Given the description of an element on the screen output the (x, y) to click on. 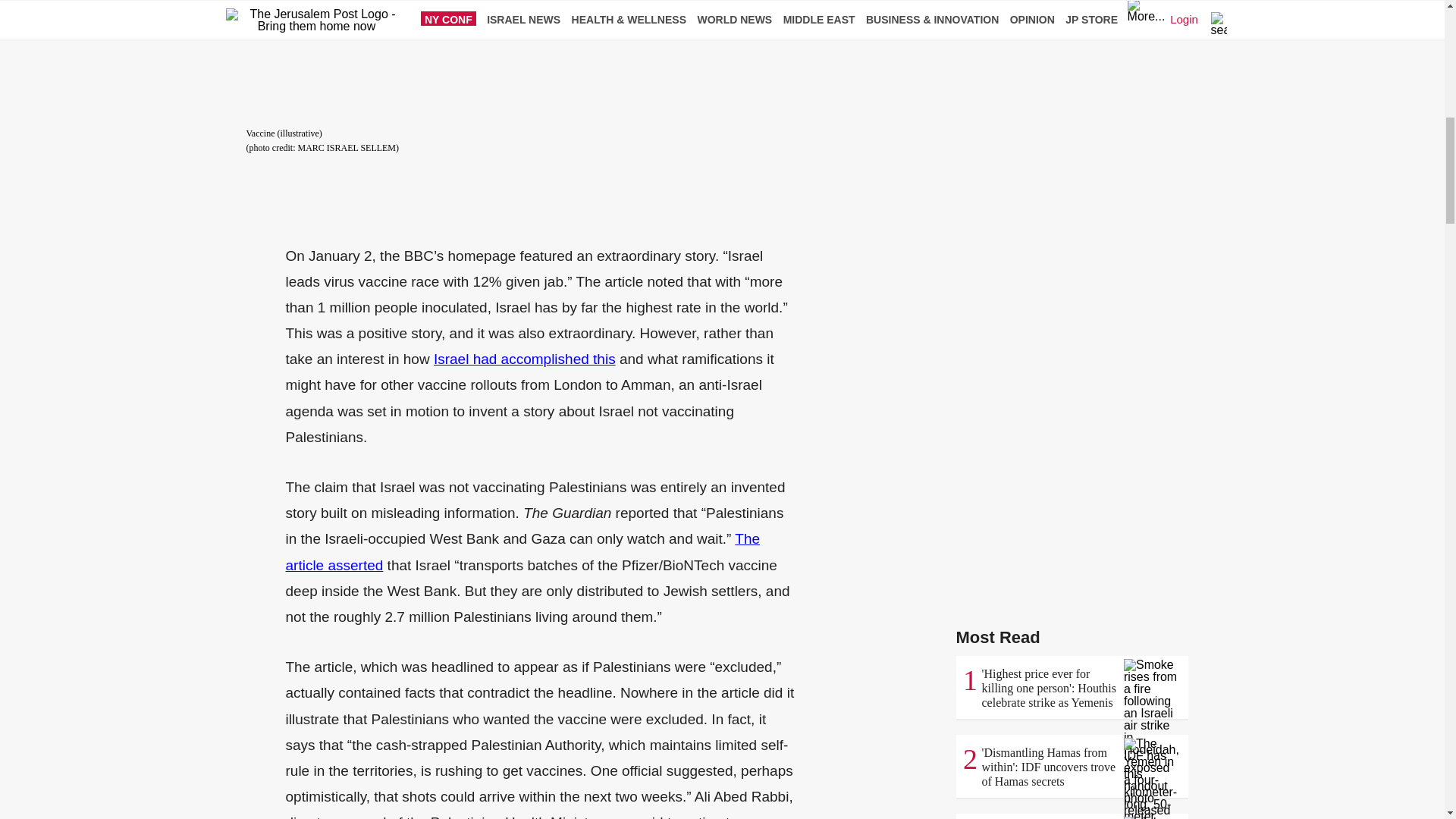
Israel had accomplished this (524, 358)
The article asserted (522, 551)
